Given the description of an element on the screen output the (x, y) to click on. 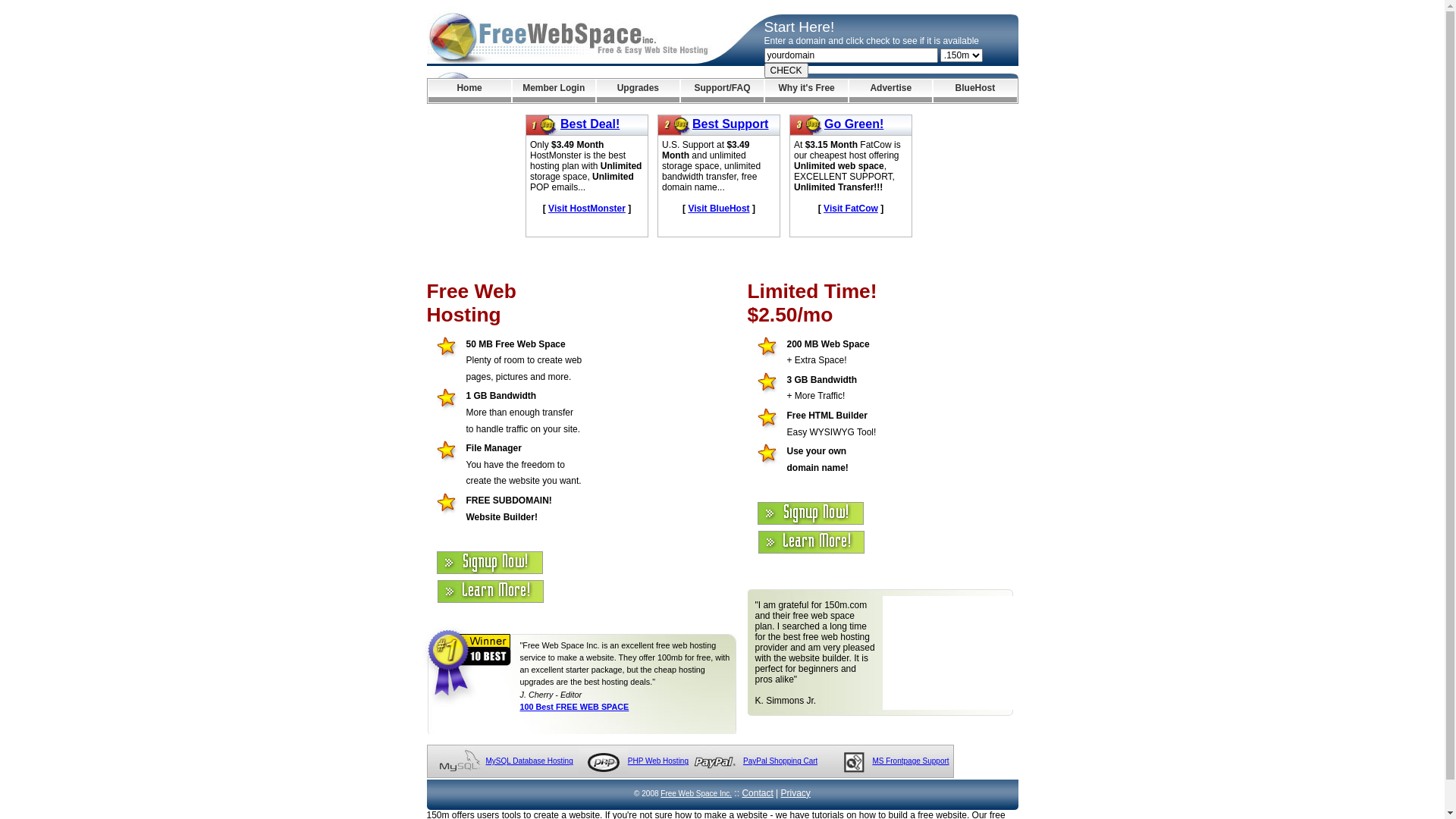
MS Frontpage Support Element type: text (910, 760)
BlueHost Element type: text (974, 90)
Free Web Space Inc. Element type: text (695, 793)
MySQL Database Hosting Element type: text (528, 760)
PHP Web Hosting Element type: text (657, 760)
100 Best FREE WEB SPACE Element type: text (574, 706)
Advertise Element type: text (890, 90)
Upgrades Element type: text (637, 90)
Why it's Free Element type: text (806, 90)
Support/FAQ Element type: text (721, 90)
Member Login Element type: text (553, 90)
PayPal Shopping Cart Element type: text (780, 760)
Home Element type: text (468, 90)
Privacy Element type: text (795, 792)
Contact Element type: text (756, 792)
CHECK Element type: text (786, 70)
